Given the description of an element on the screen output the (x, y) to click on. 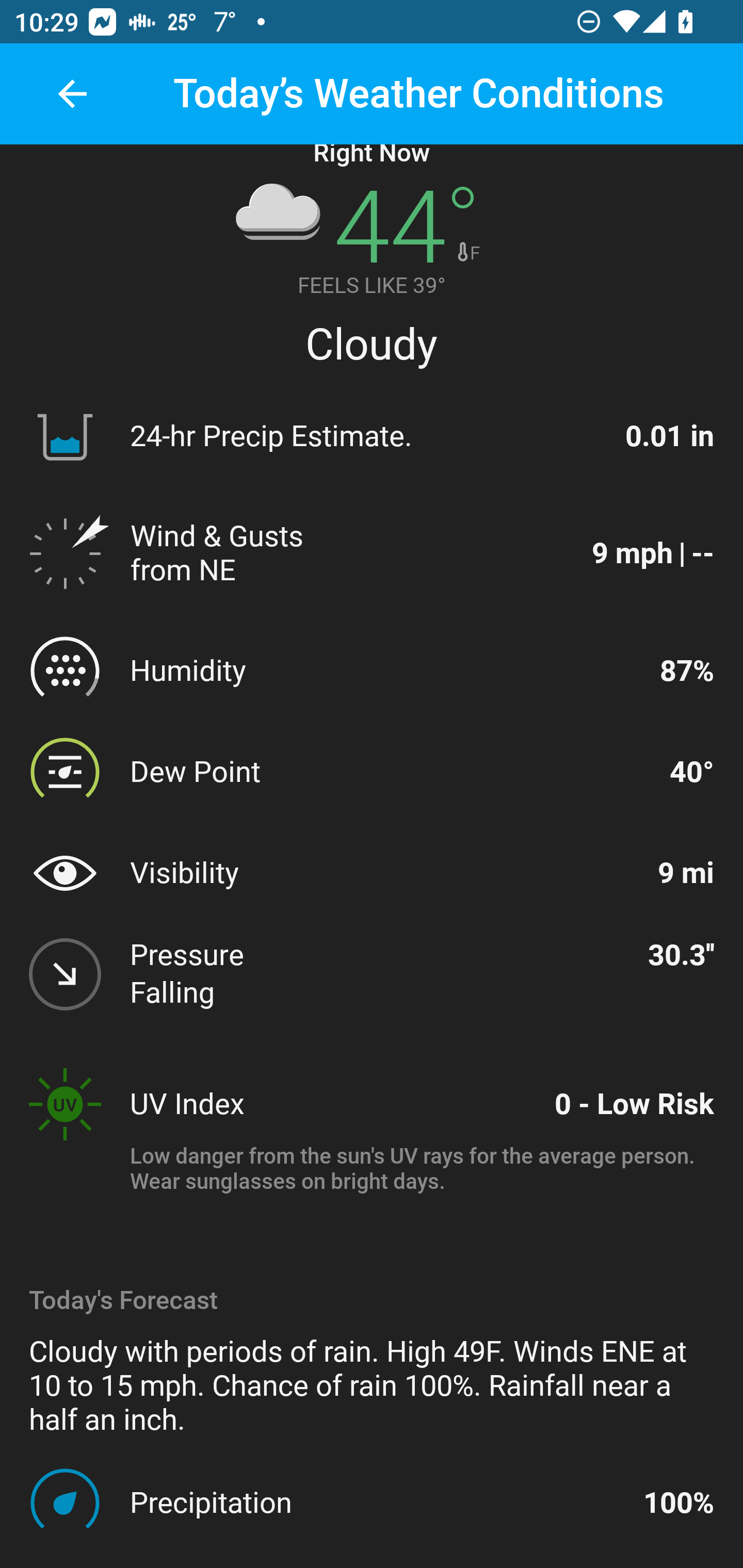
back (71, 93)
Precipitation (377, 1502)
100% (678, 1502)
